Given the description of an element on the screen output the (x, y) to click on. 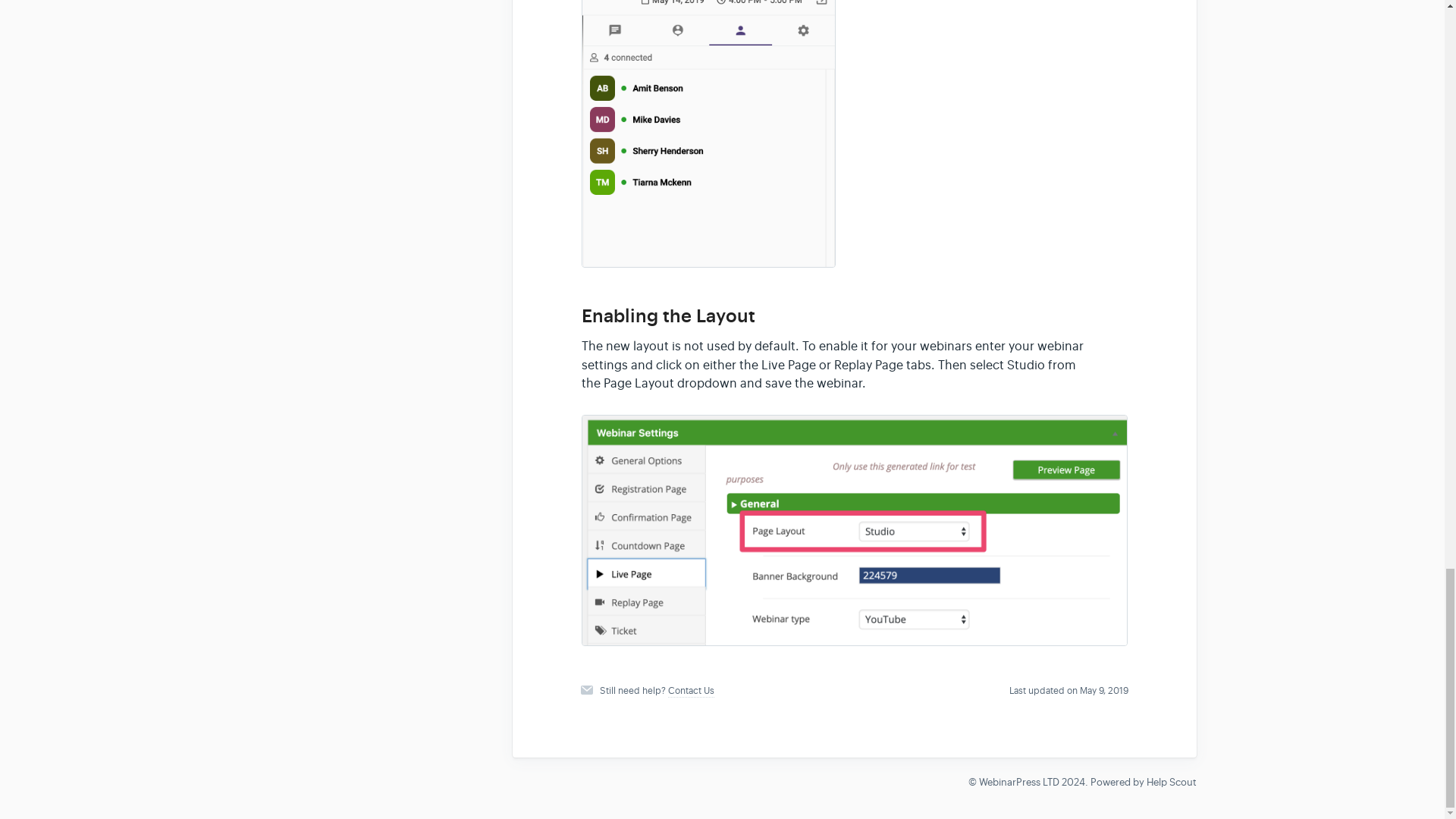
WebinarPress LTD (1018, 781)
Help Scout (1171, 781)
Contact Us (691, 690)
